Given the description of an element on the screen output the (x, y) to click on. 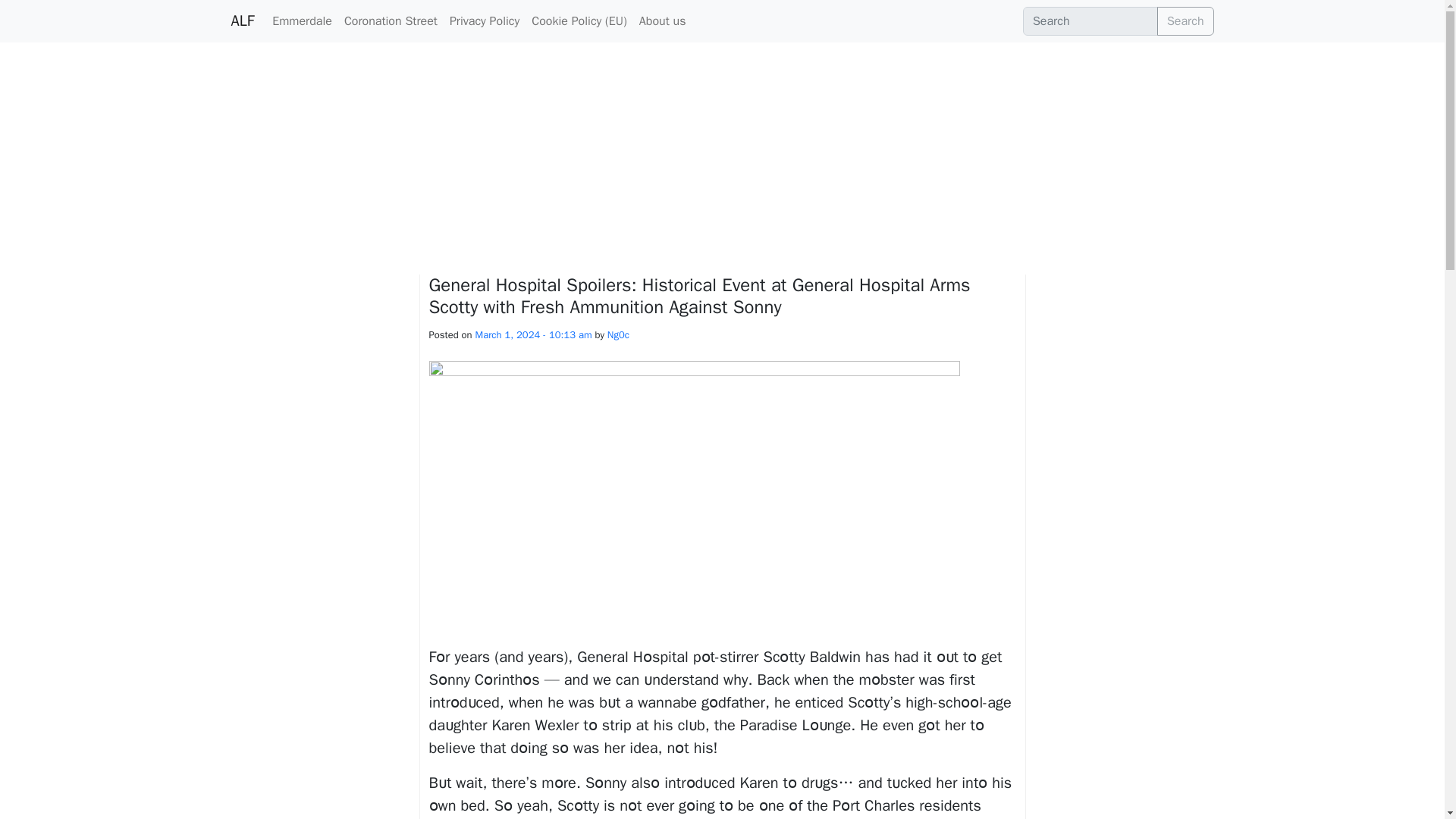
Emmerdale (301, 20)
View all posts by Ng0c (617, 334)
Emmerdale (301, 20)
About us (663, 20)
Privacy Policy (484, 20)
March 1, 2024 - 10:13 am (534, 334)
Search (1185, 21)
Coronation Street (390, 20)
March 1, 2024 - 10:13 am (534, 334)
Coronation Street (390, 20)
